Given the description of an element on the screen output the (x, y) to click on. 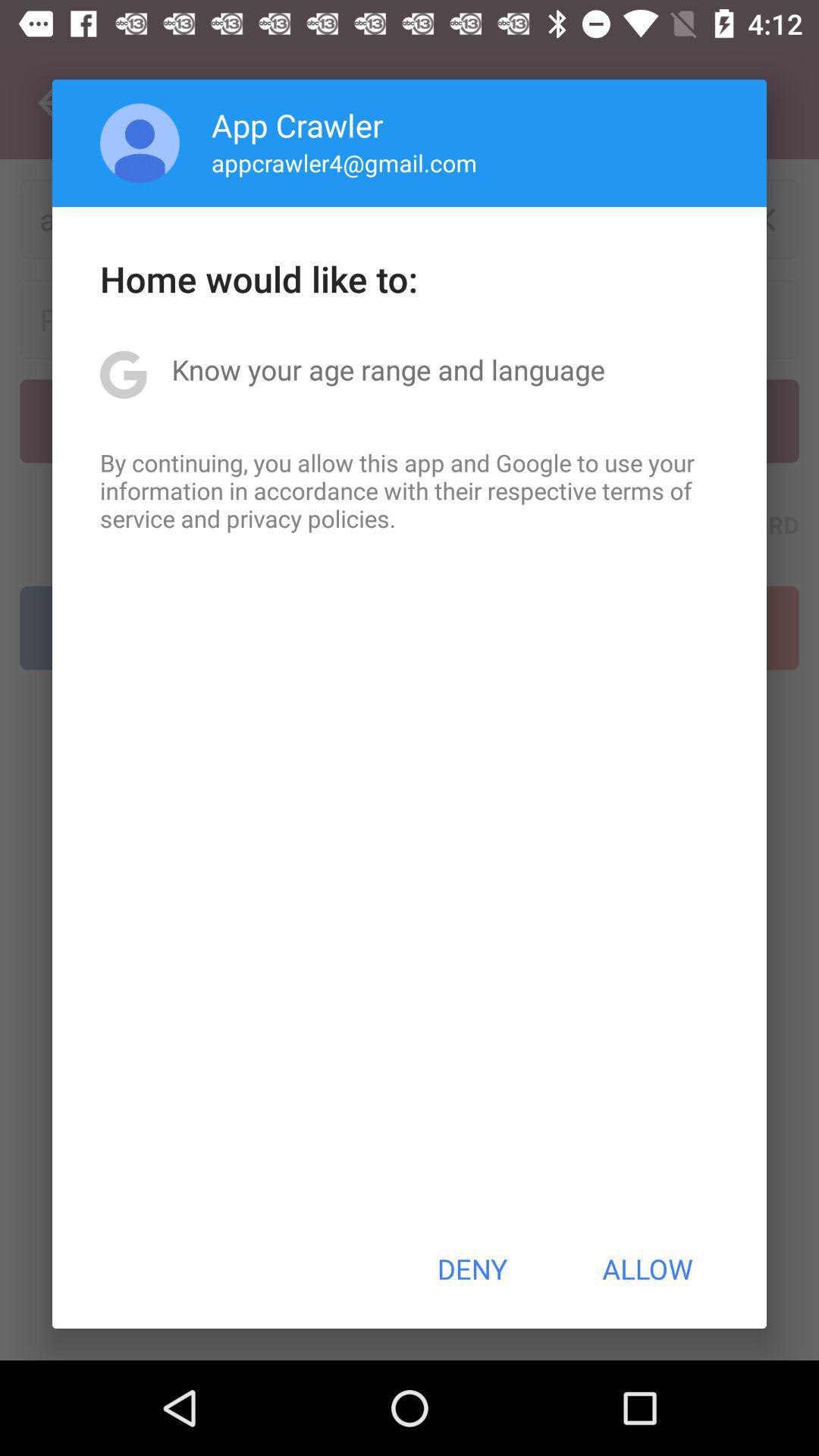
launch icon below home would like item (388, 369)
